Given the description of an element on the screen output the (x, y) to click on. 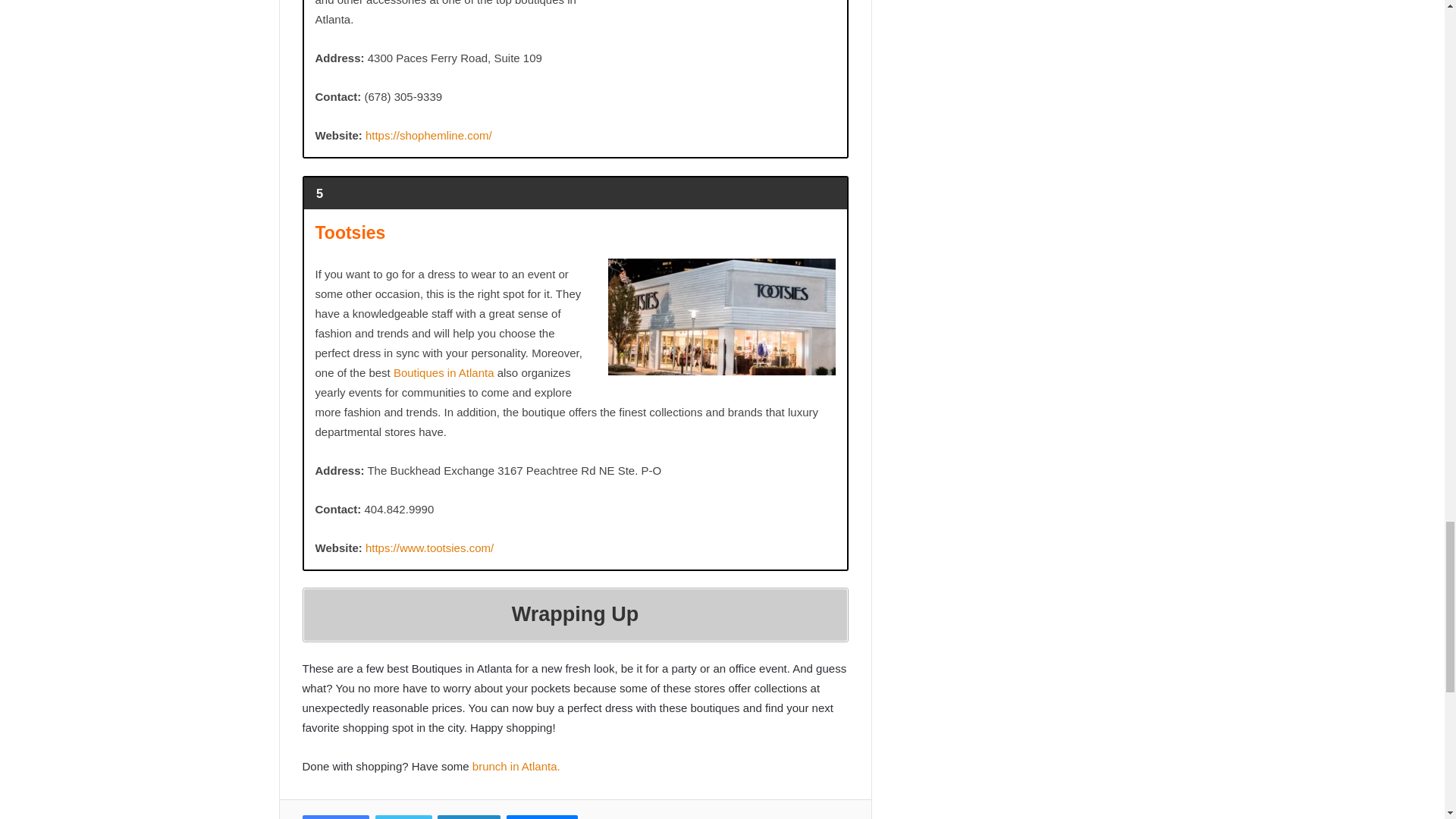
Messenger (542, 816)
Twitter (402, 816)
brunch in Atlanta. (515, 766)
LinkedIn (469, 816)
Twitter (402, 816)
Messenger (542, 816)
LinkedIn (469, 816)
Boutiques in Atlanta (444, 372)
Facebook (335, 816)
Facebook (335, 816)
